Given the description of an element on the screen output the (x, y) to click on. 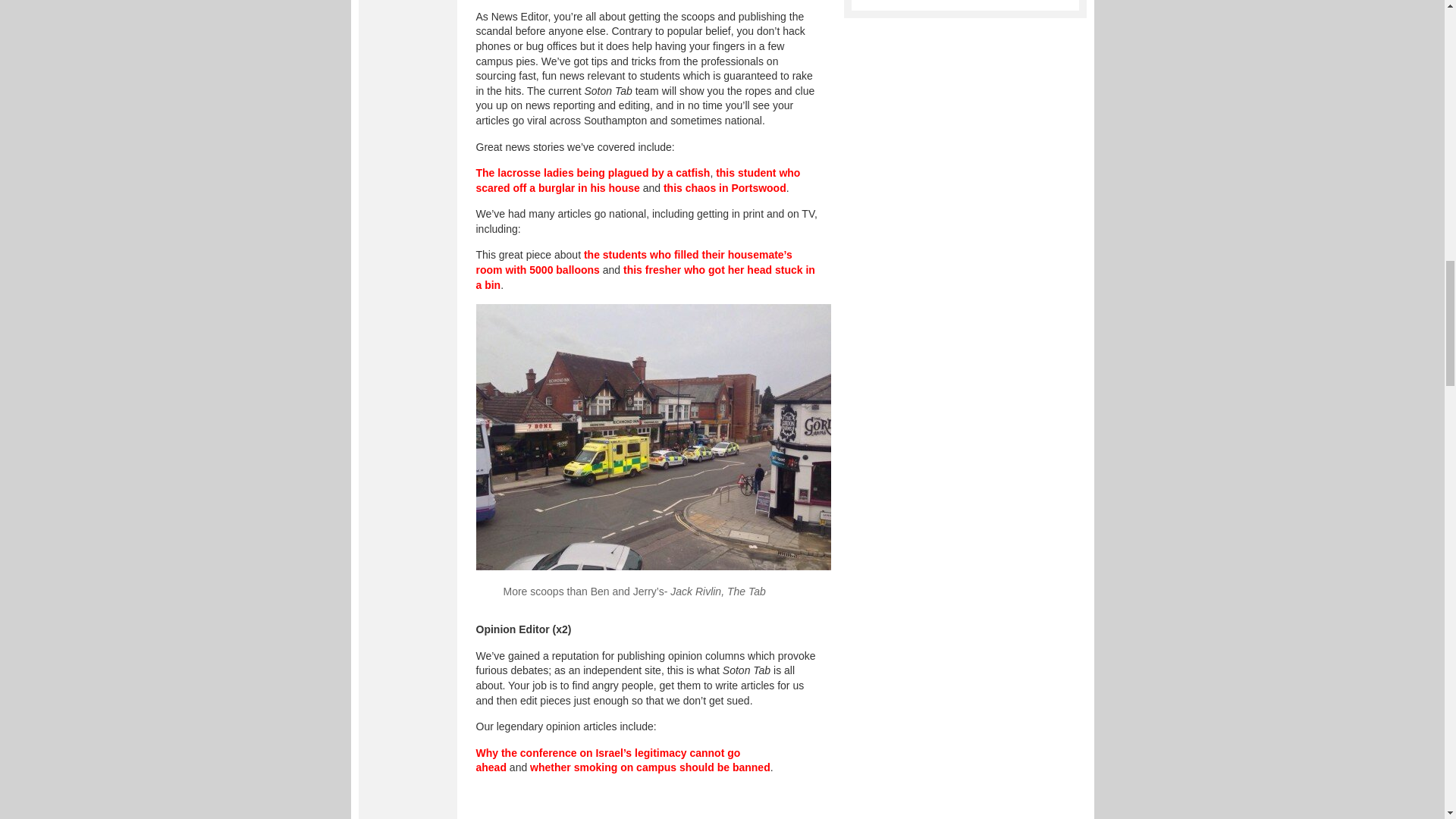
this chaos in Portswood (724, 187)
this fresher who got her head stuck in a bin (645, 277)
The lacrosse ladies being plagued by a catfish (593, 173)
this student who scared off a burglar in his house (638, 180)
